Given the description of an element on the screen output the (x, y) to click on. 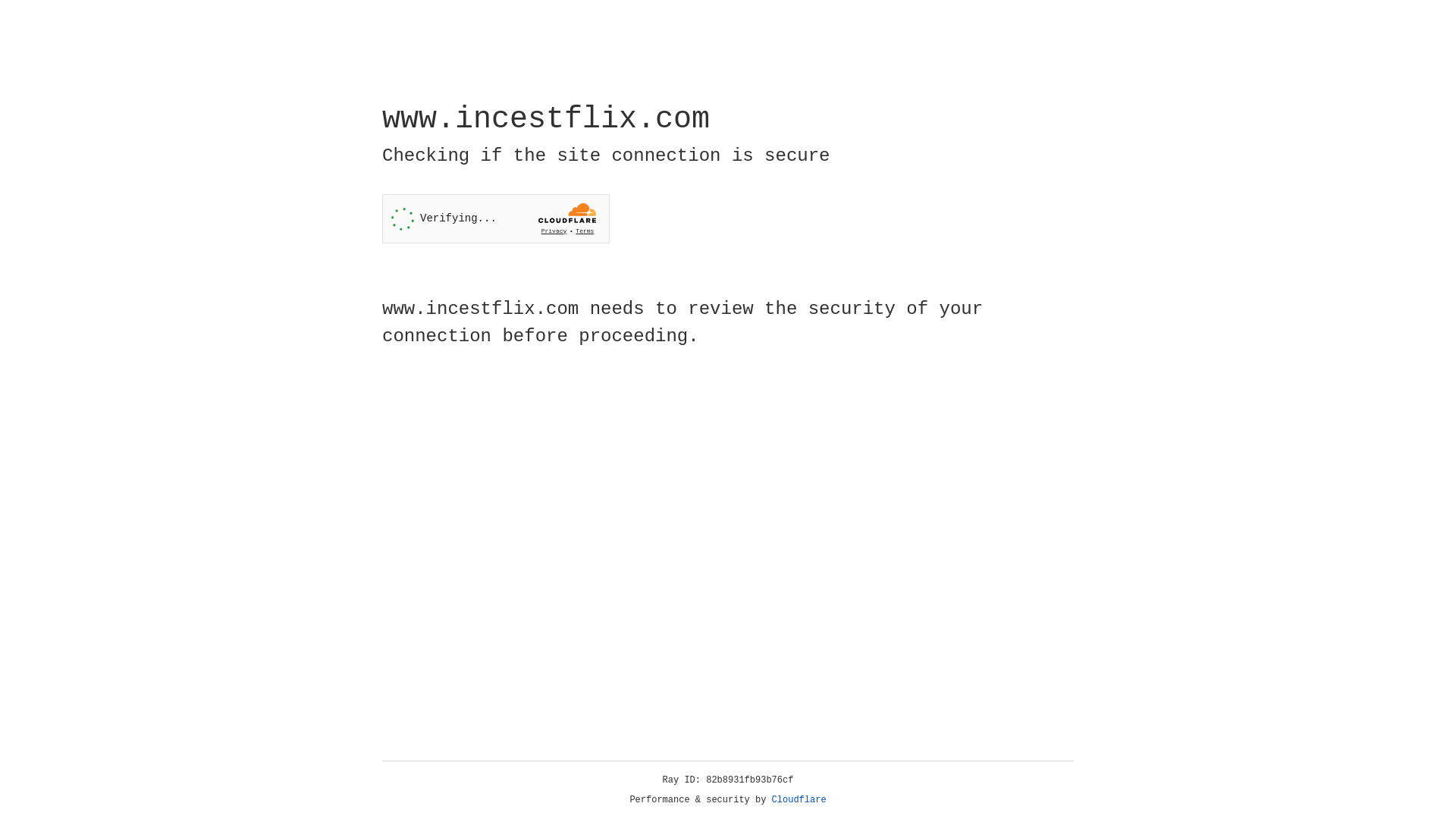
Cloudflare Element type: text (798, 799)
Widget containing a Cloudflare security challenge Element type: hover (495, 218)
